Given the description of an element on the screen output the (x, y) to click on. 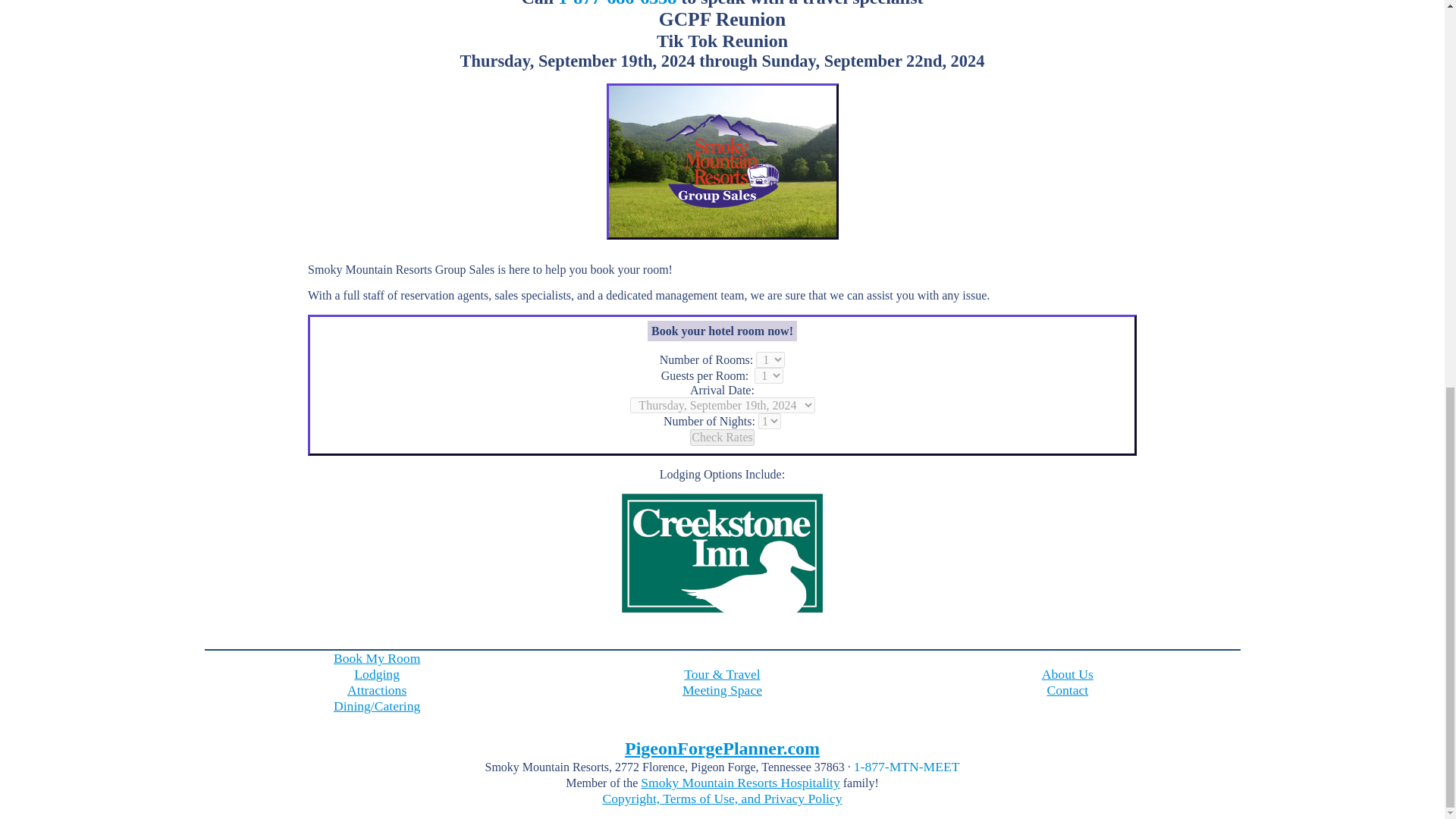
Creekstone Inn, Pigeon Forge (721, 500)
Copyright, Terms of Use, and Privacy Policy (721, 798)
Attractions (376, 689)
Check Rates (722, 437)
PigeonForgePlanner.com (721, 748)
Book My Room (376, 657)
Lodging (375, 673)
GCPF Reunion (722, 161)
Meeting Space (721, 689)
Smoky Mountain Resorts Hospitality (740, 782)
